Given the description of an element on the screen output the (x, y) to click on. 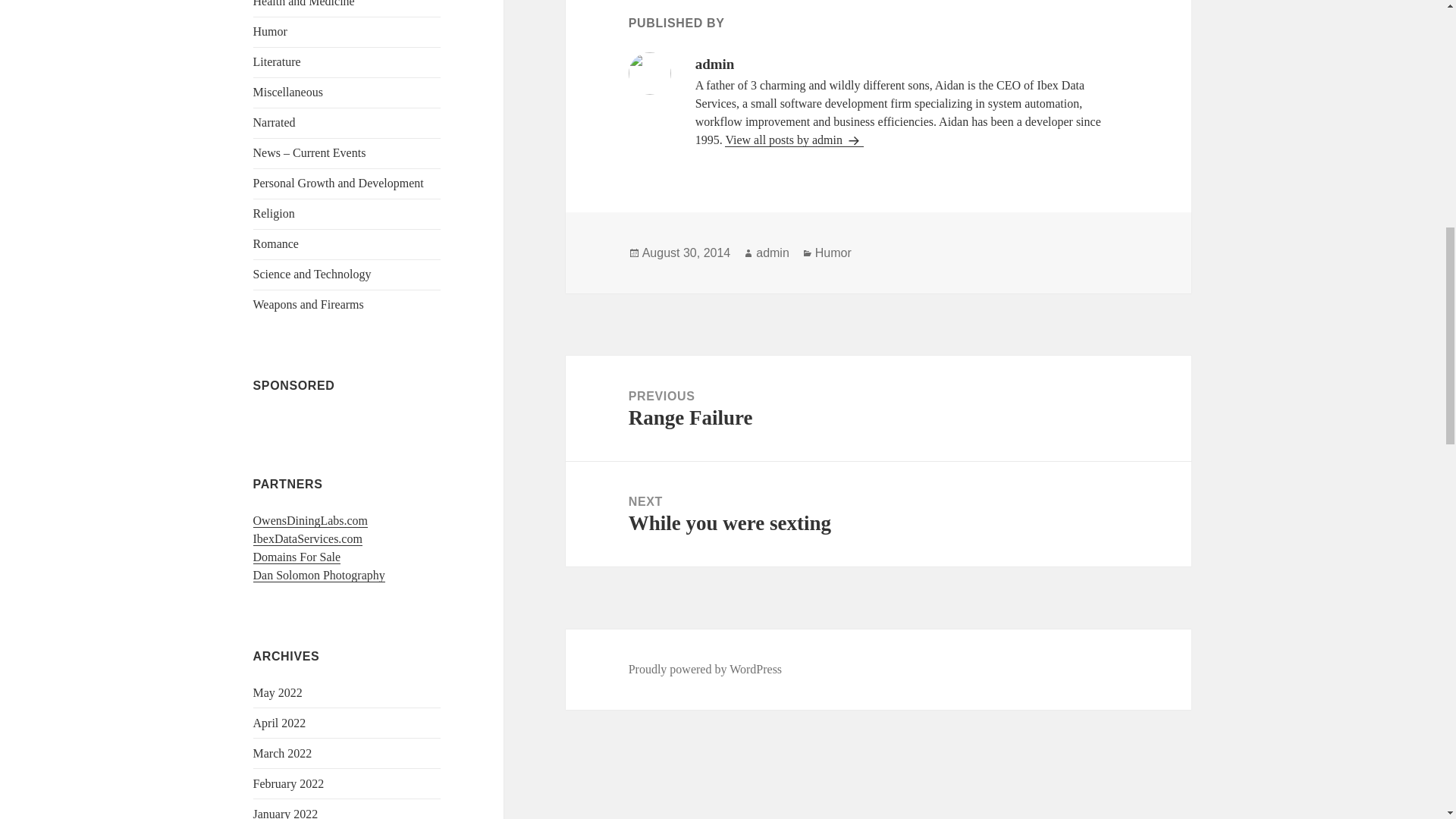
Humor (269, 31)
IbexDataServices.com (307, 539)
Narrated (274, 122)
Religion (274, 213)
Weapons and Firearms (308, 304)
May 2022 (277, 692)
March 2022 (283, 753)
January 2022 (285, 813)
April 2022 (279, 722)
OwensDiningLabs.com (310, 520)
Dan Solomon Photography (319, 575)
Literature (277, 61)
Science and Technology (312, 273)
Health and Medicine (304, 3)
February 2022 (288, 783)
